Given the description of an element on the screen output the (x, y) to click on. 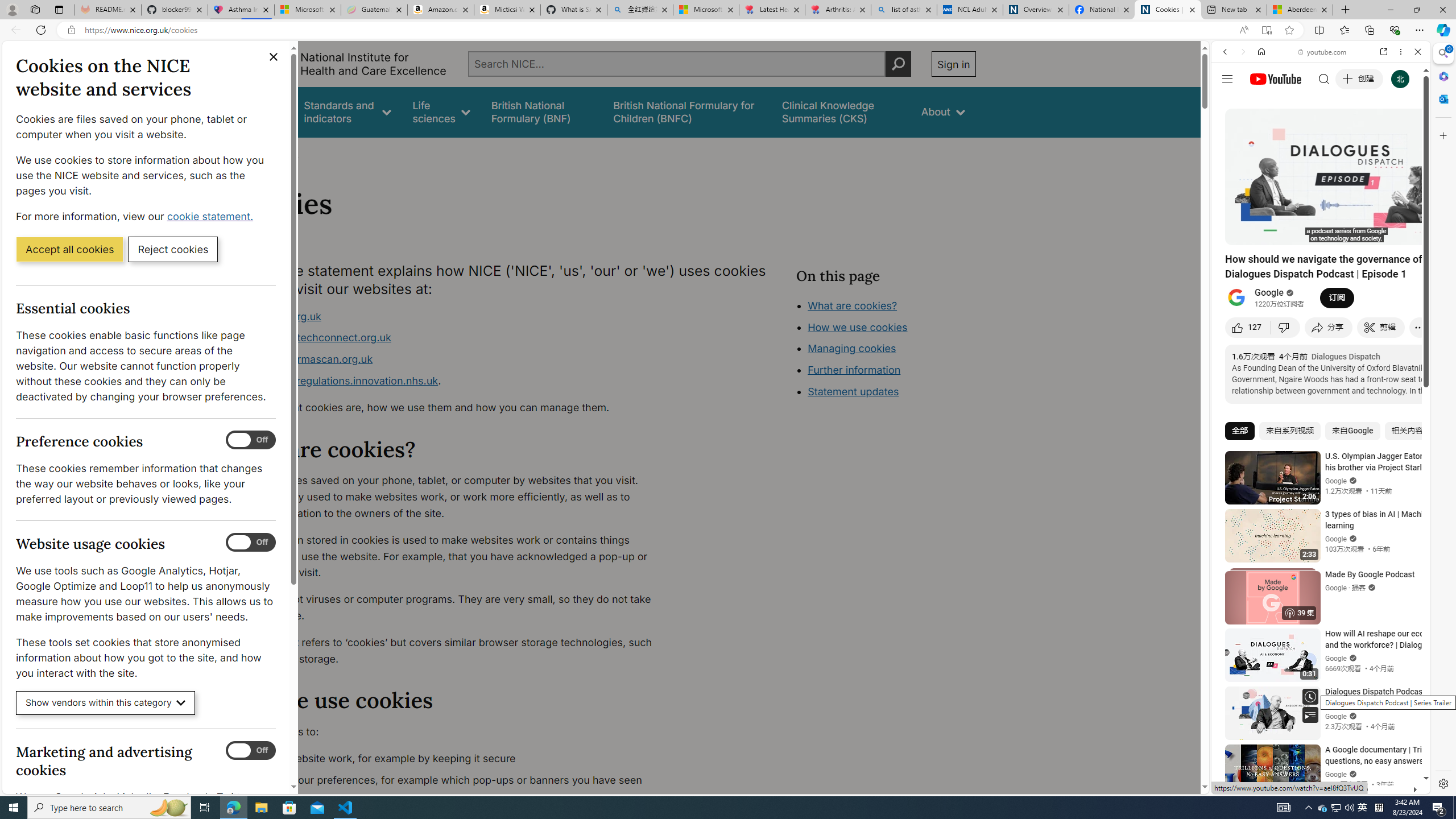
Google (1269, 292)
Perform search (898, 63)
Accept all cookies (69, 248)
How we use cookies (896, 389)
Website usage cookies (250, 542)
www.digitalregulations.innovation.nhs.uk. (452, 380)
British National Formulary for Children (BNFC) (686, 111)
